Given the description of an element on the screen output the (x, y) to click on. 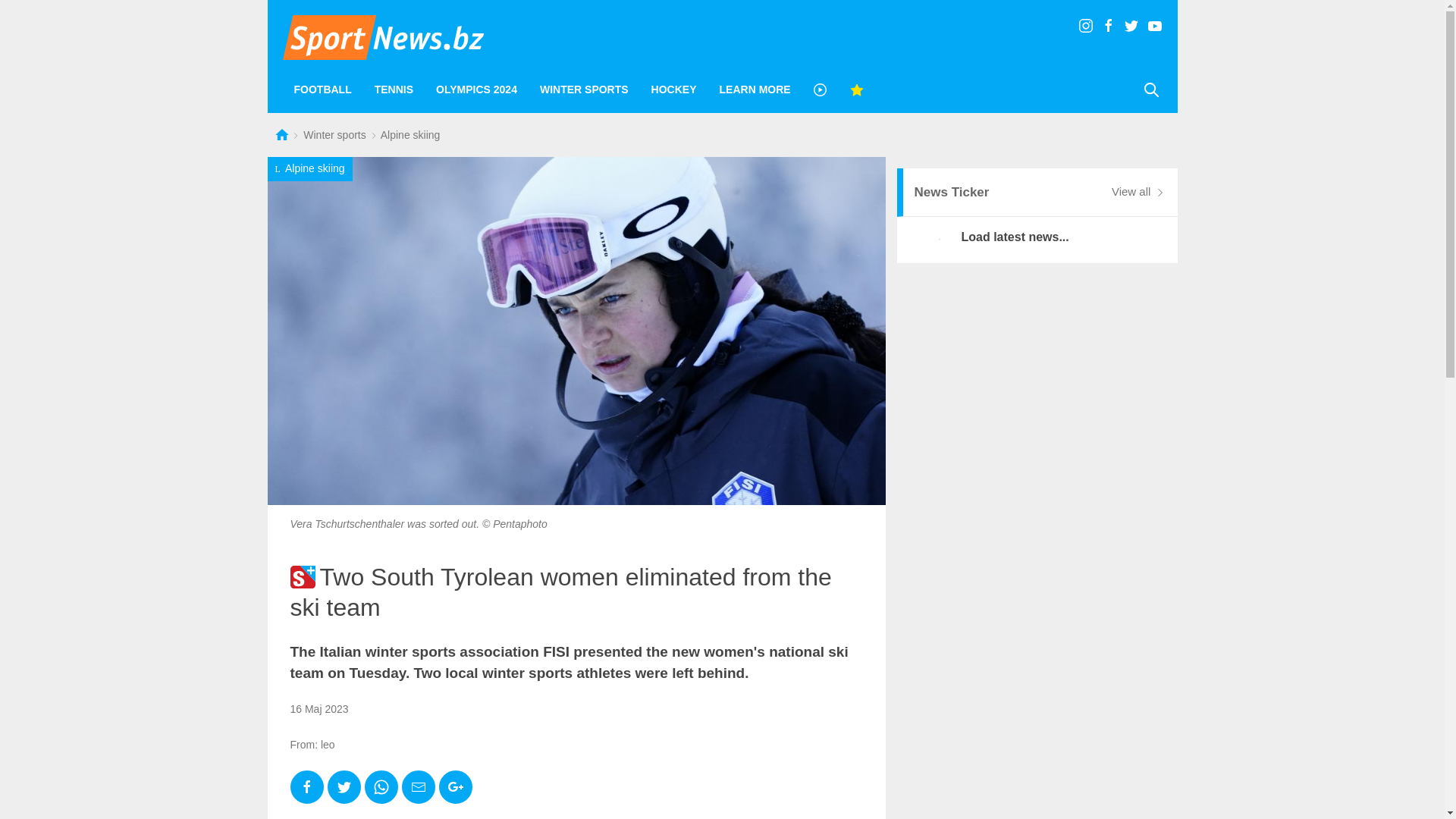
Whatsapp (381, 786)
FOOTBALL (322, 89)
Google Plus (455, 786)
Facebook (306, 786)
Twitter (344, 786)
OLYMPICS 2024 (476, 89)
Email (418, 786)
TENNIS (393, 89)
WINTER SPORTS (584, 89)
